Given the description of an element on the screen output the (x, y) to click on. 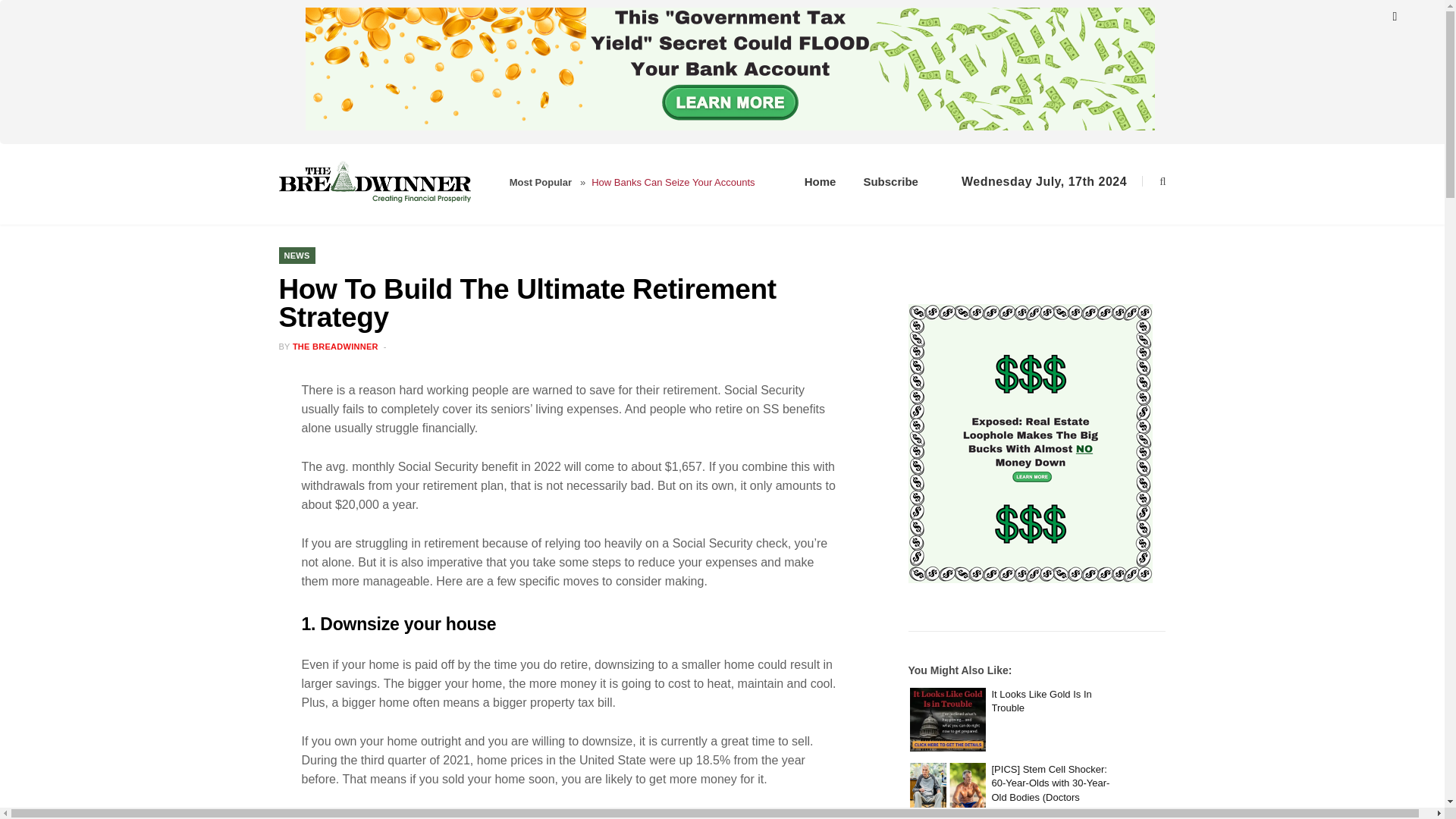
Posts by The Breadwinner (335, 346)
The Breadwinner (392, 182)
Home (820, 182)
Subscribe (889, 182)
THE BREADWINNER (335, 346)
Search (1153, 181)
NEWS (297, 255)
How Banks Can Seize Your Accounts (683, 184)
